Given the description of an element on the screen output the (x, y) to click on. 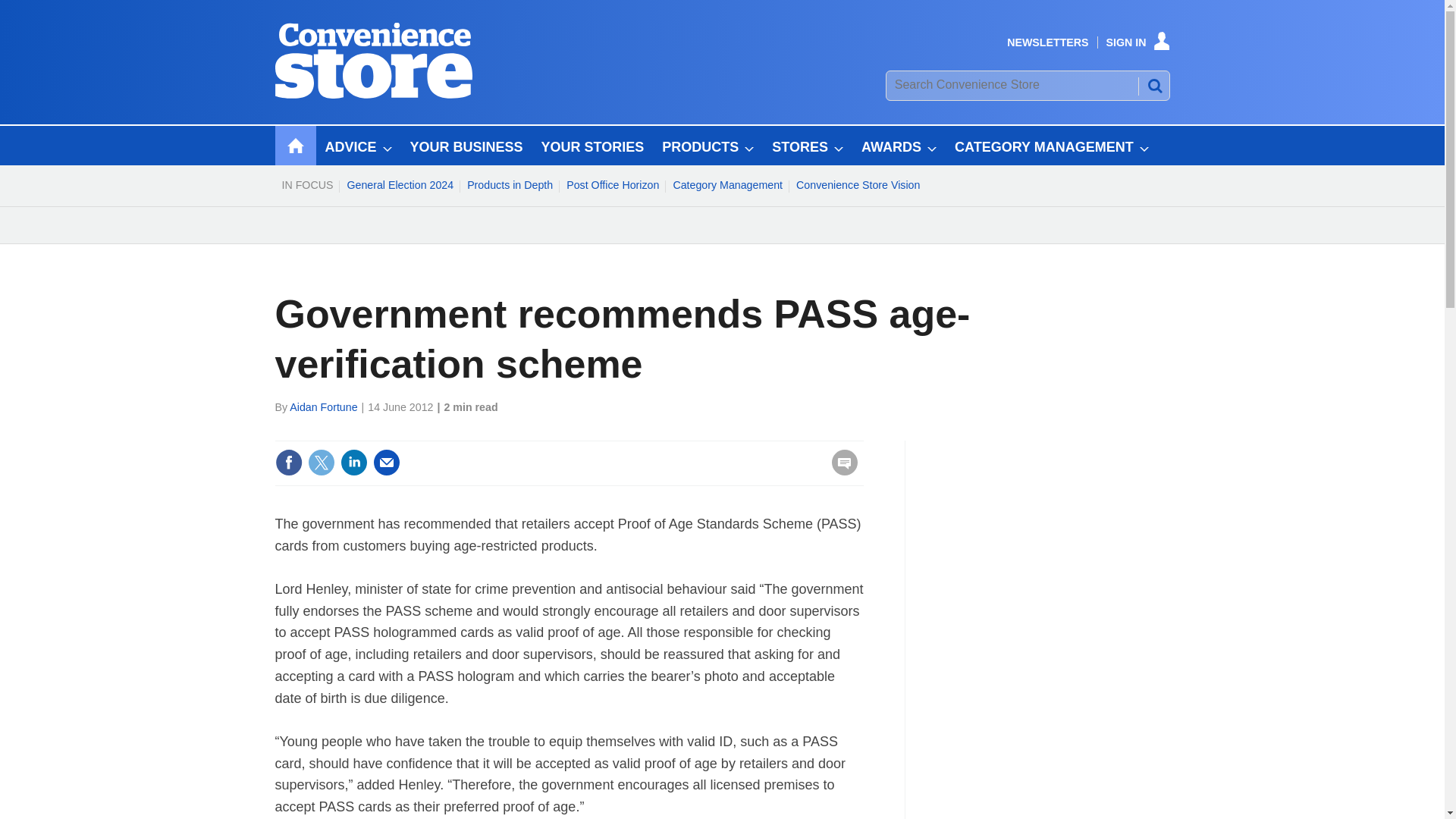
General Election 2024 (399, 184)
Category Management (727, 184)
Site name (373, 93)
SEARCH (1153, 85)
Share this on Facebook (288, 461)
NEWSLETTERS (1047, 42)
No comments (840, 471)
Share this on Linked in (352, 461)
Convenience Store Vision (857, 184)
Products in Depth (509, 184)
Share this on Twitter (320, 461)
SIGN IN (1138, 42)
Email this article (386, 461)
Post Office Horizon (612, 184)
